Given the description of an element on the screen output the (x, y) to click on. 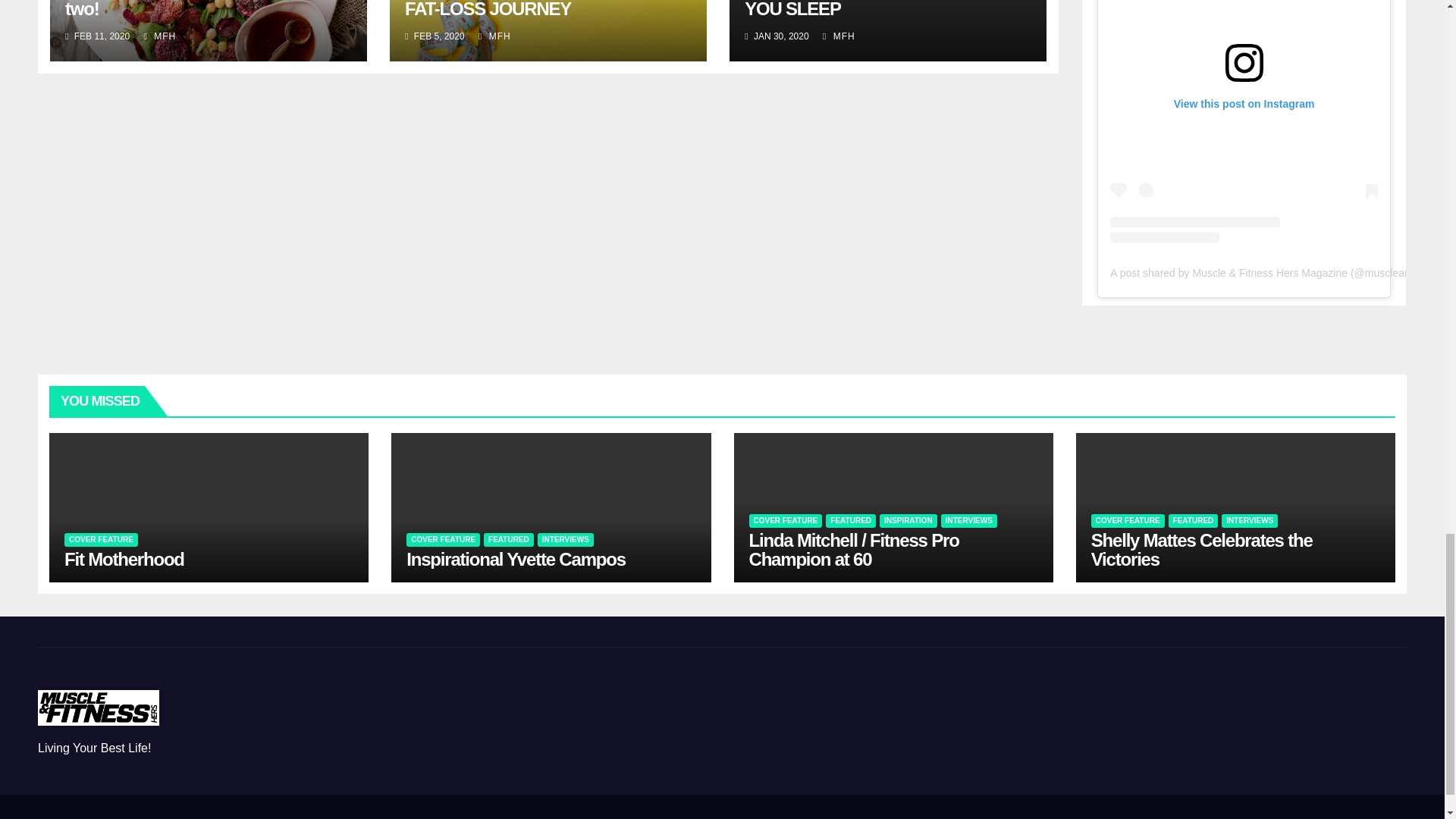
Permalink to: Shelly Mattes Celebrates the Victories (1201, 549)
Permalink to: 7 THINGS TO EXPECT ON YOUR FAT-LOSS JOURNEY (533, 9)
Permalink to: Inspirational Yvette Campos (516, 558)
Weight Loss (1042, 816)
Nutrition (969, 816)
Permalink to: Fit Motherhood (124, 558)
Permalink to: 11 TIPS TO GET STRONGER WHILE YOU SLEEP (885, 9)
